Given the description of an element on the screen output the (x, y) to click on. 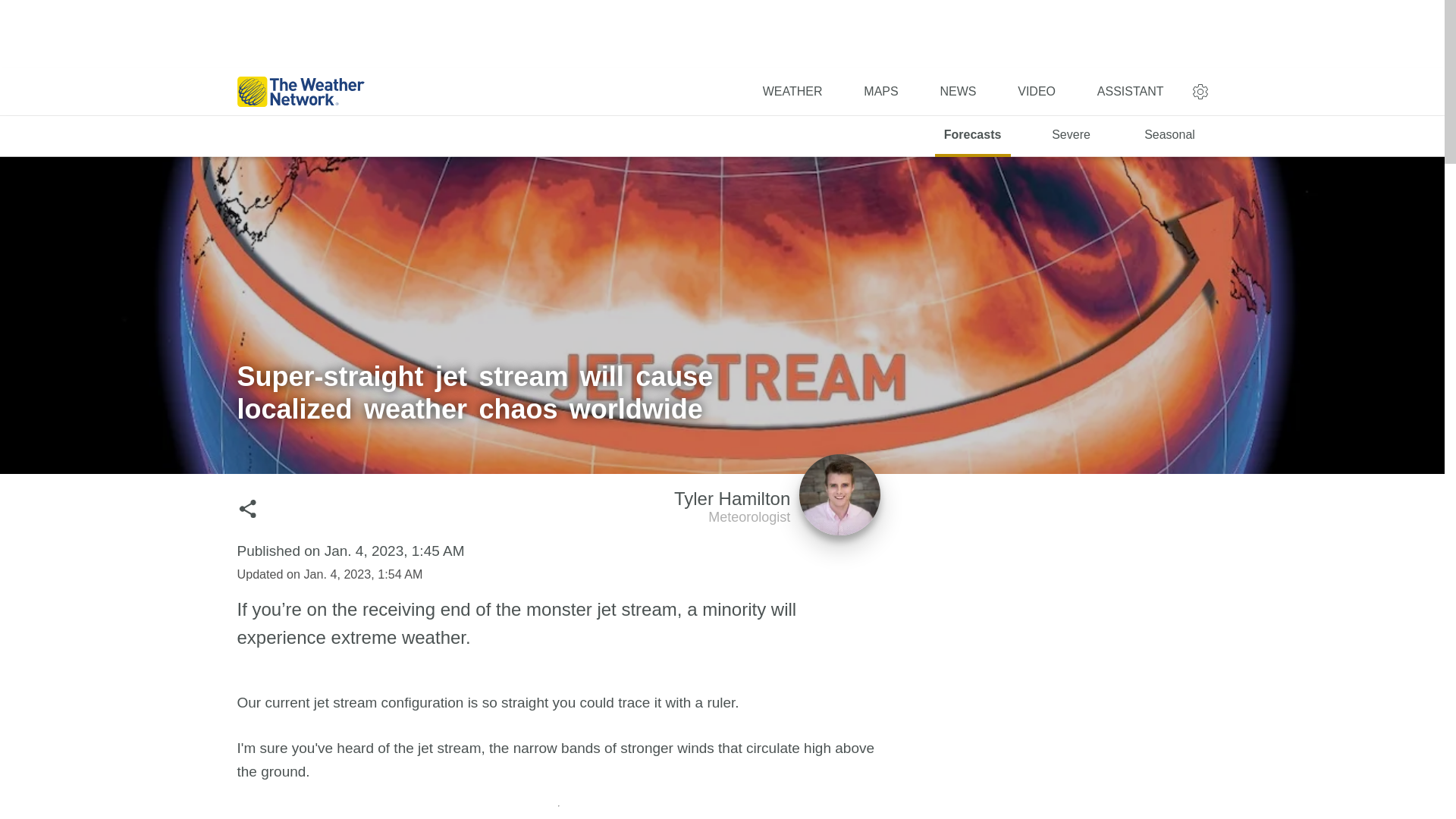
VIDEO (1036, 91)
Forecasts (972, 136)
Seasonal (1169, 136)
Severe (1071, 136)
ASSISTANT (1131, 91)
MAPS (880, 91)
WEATHER (777, 509)
NEWS (792, 91)
